Given the description of an element on the screen output the (x, y) to click on. 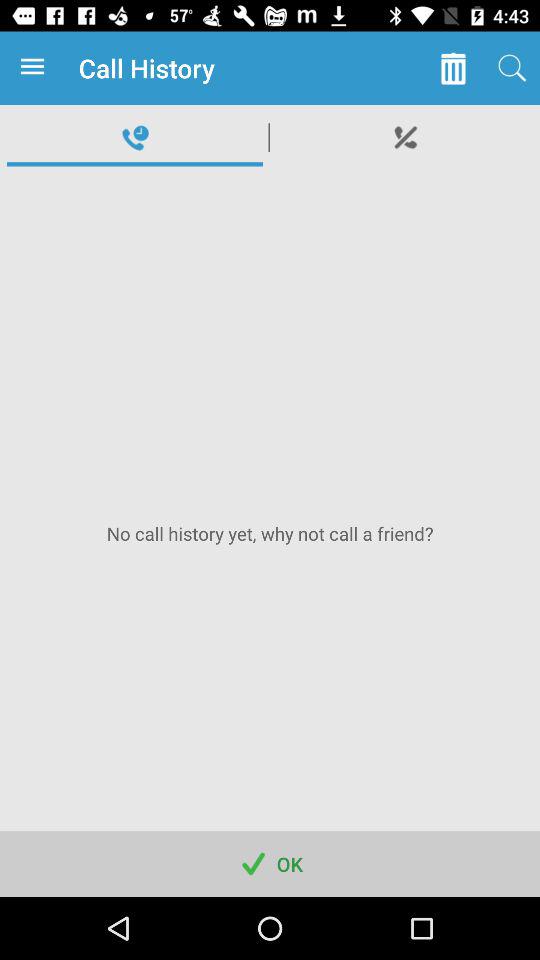
open icon next to the call history (452, 67)
